Given the description of an element on the screen output the (x, y) to click on. 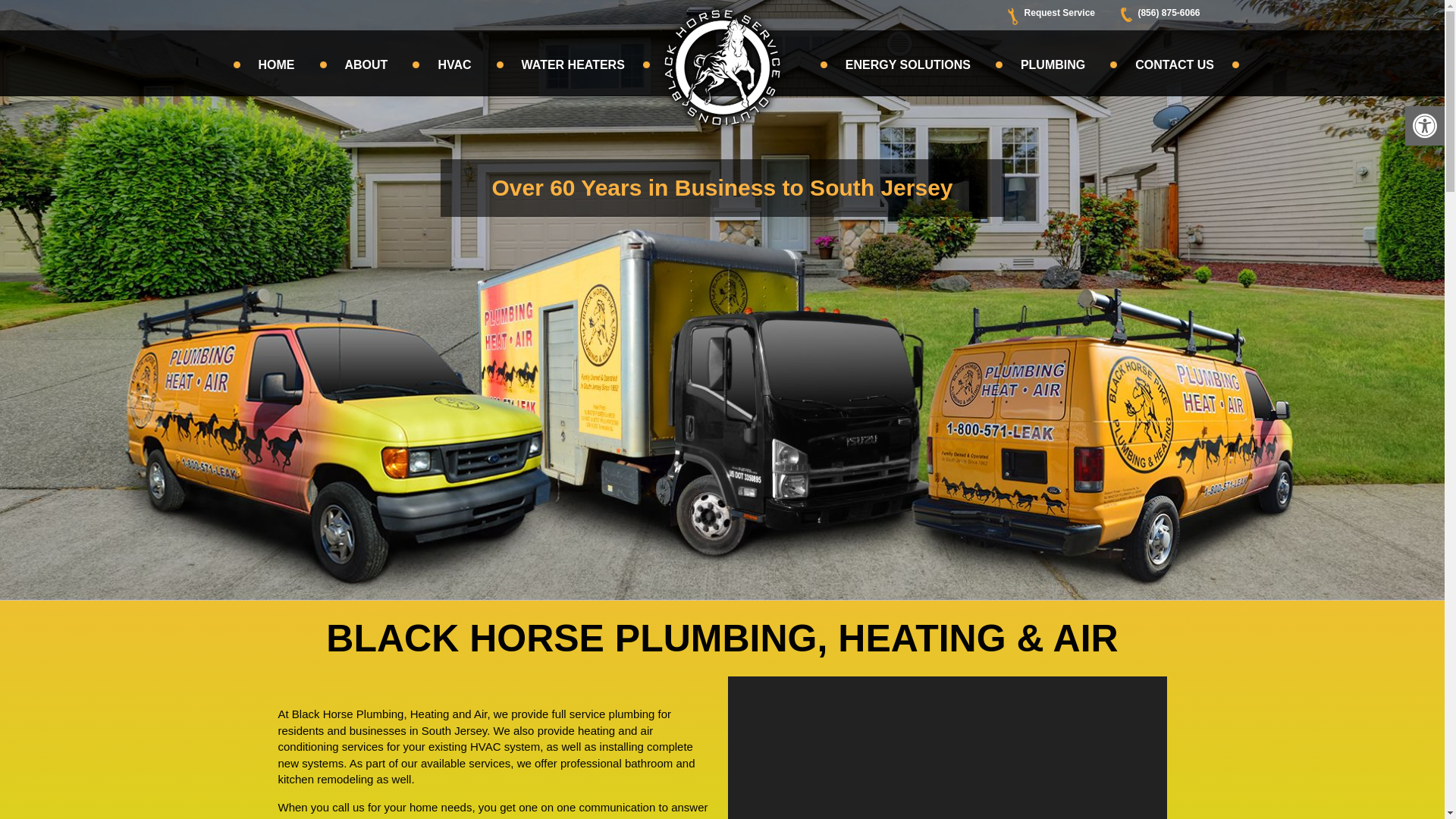
PLUMBING (1052, 65)
Accessibility Tools (1424, 125)
ABOUT (366, 65)
Request Service (1071, 12)
HVAC (1424, 125)
Grayscale (454, 65)
CONTACT US (572, 65)
